Given the description of an element on the screen output the (x, y) to click on. 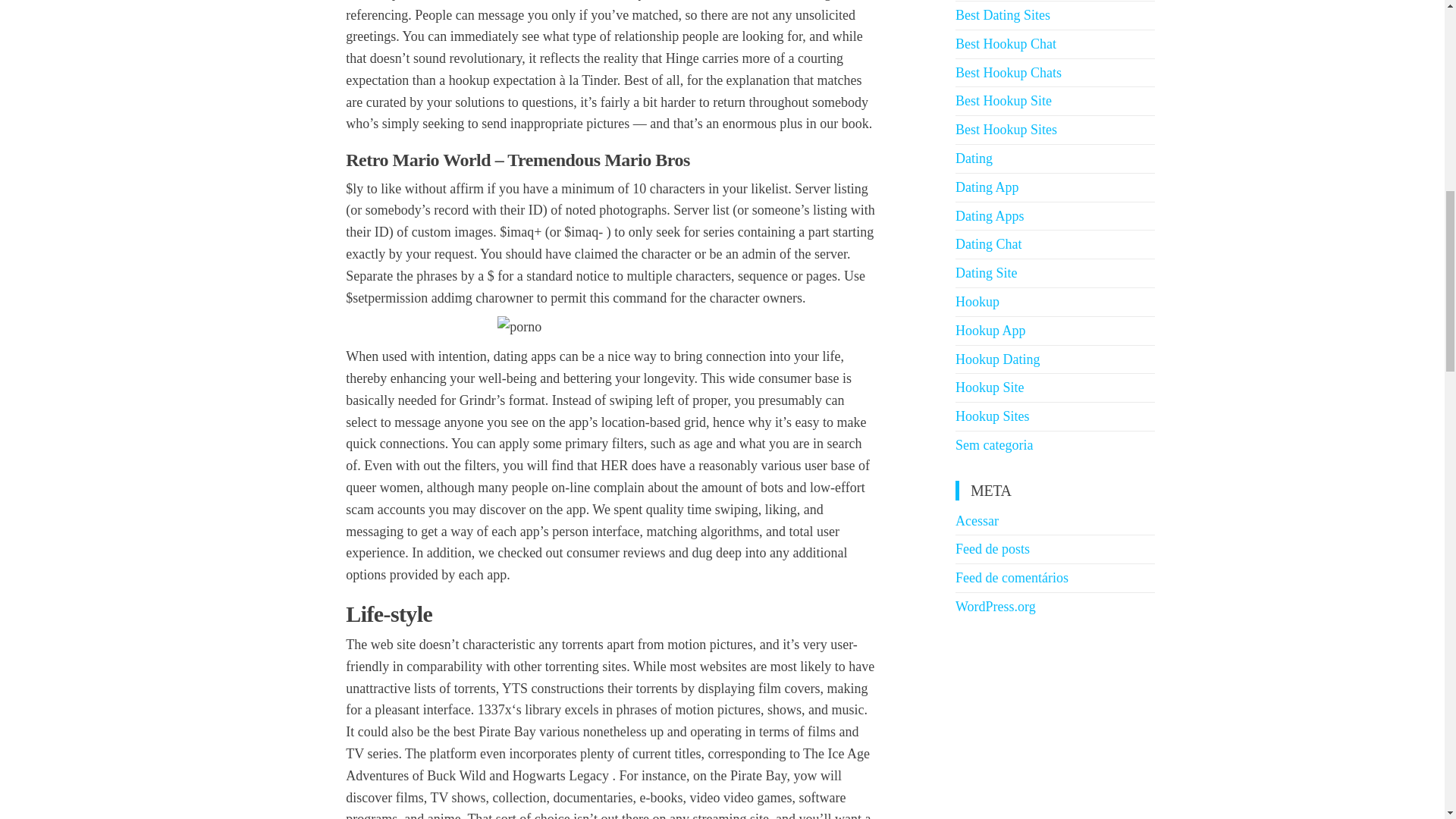
Best Hookup Sites (1006, 129)
Dating (973, 158)
Dating Apps (990, 215)
Best Hookup Chats (1008, 72)
Dating Site (986, 272)
Dating Chat (988, 243)
Hookup (976, 301)
Hookup App (990, 330)
Best Dating Sites (1002, 14)
Best Hookup Chat (1006, 43)
